Given the description of an element on the screen output the (x, y) to click on. 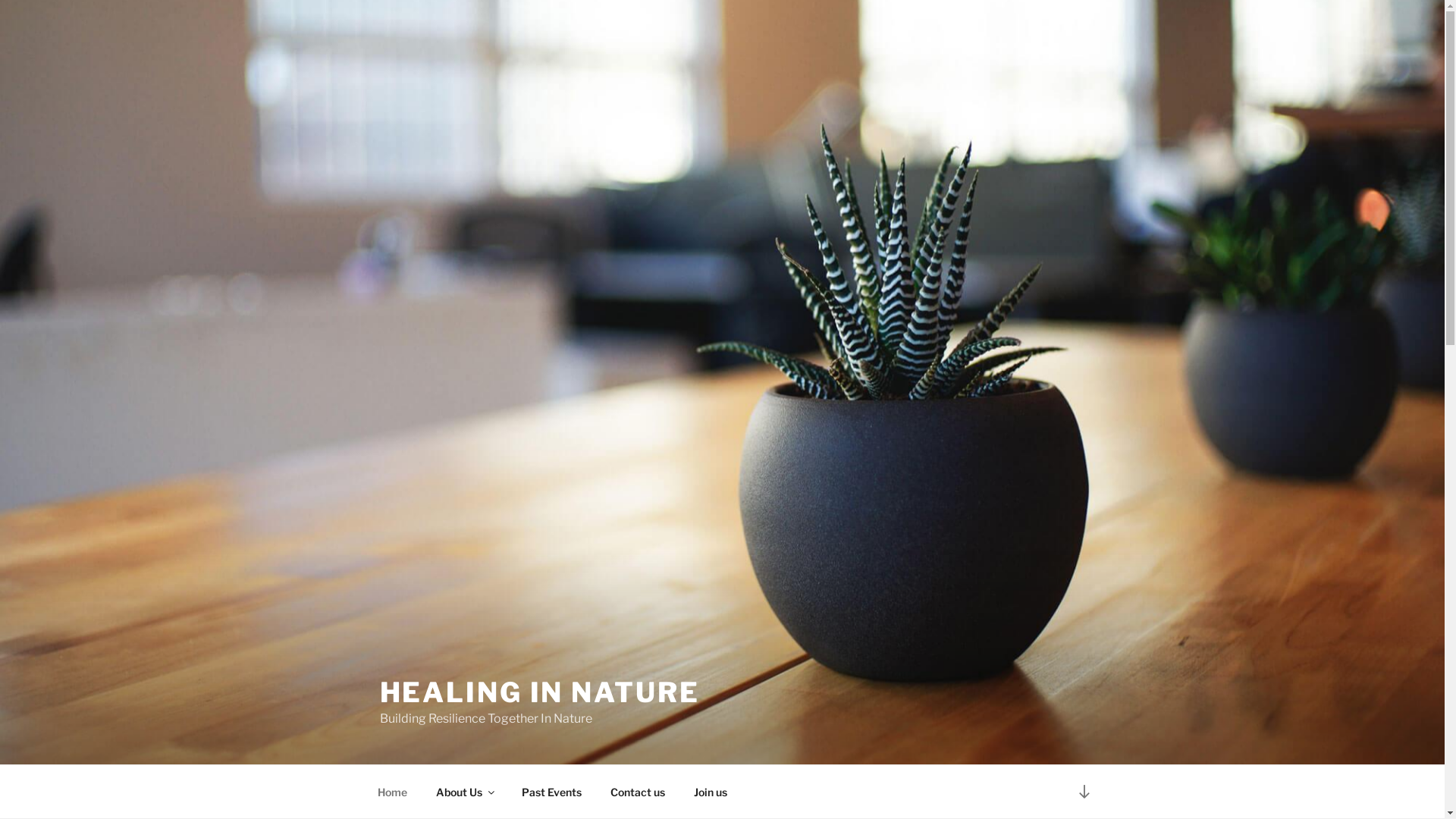
Join us Element type: text (710, 791)
HEALING IN NATURE Element type: text (539, 692)
Contact us Element type: text (637, 791)
Scroll down to content Element type: text (1083, 790)
Past Events Element type: text (551, 791)
About Us Element type: text (464, 791)
Home Element type: text (392, 791)
